Given the description of an element on the screen output the (x, y) to click on. 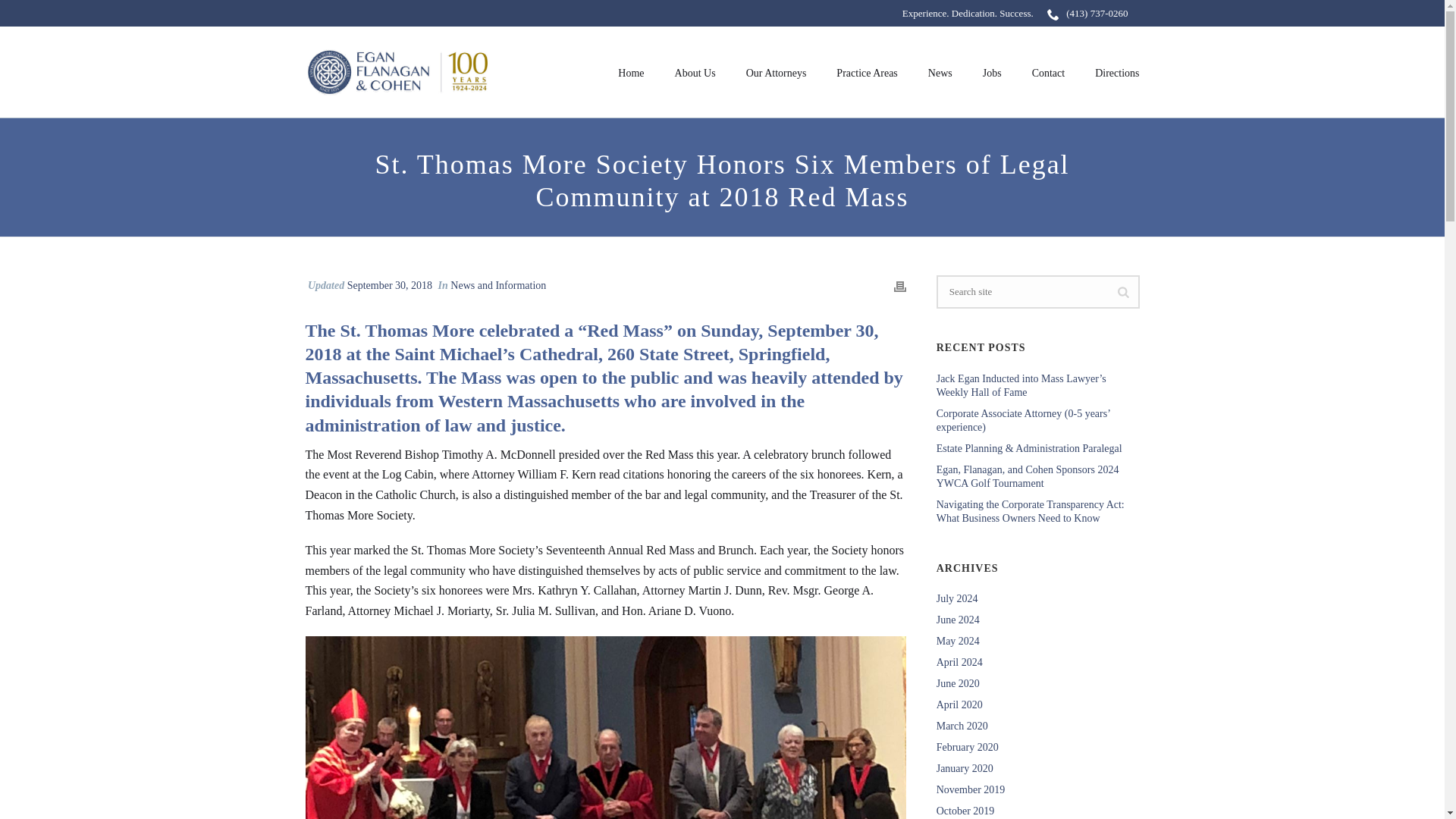
Practice Areas (866, 71)
Practice Areas (866, 71)
Our Attorneys (776, 71)
Our Attorneys (776, 71)
The Best Local Lawyers At Your Service (395, 71)
